Given the description of an element on the screen output the (x, y) to click on. 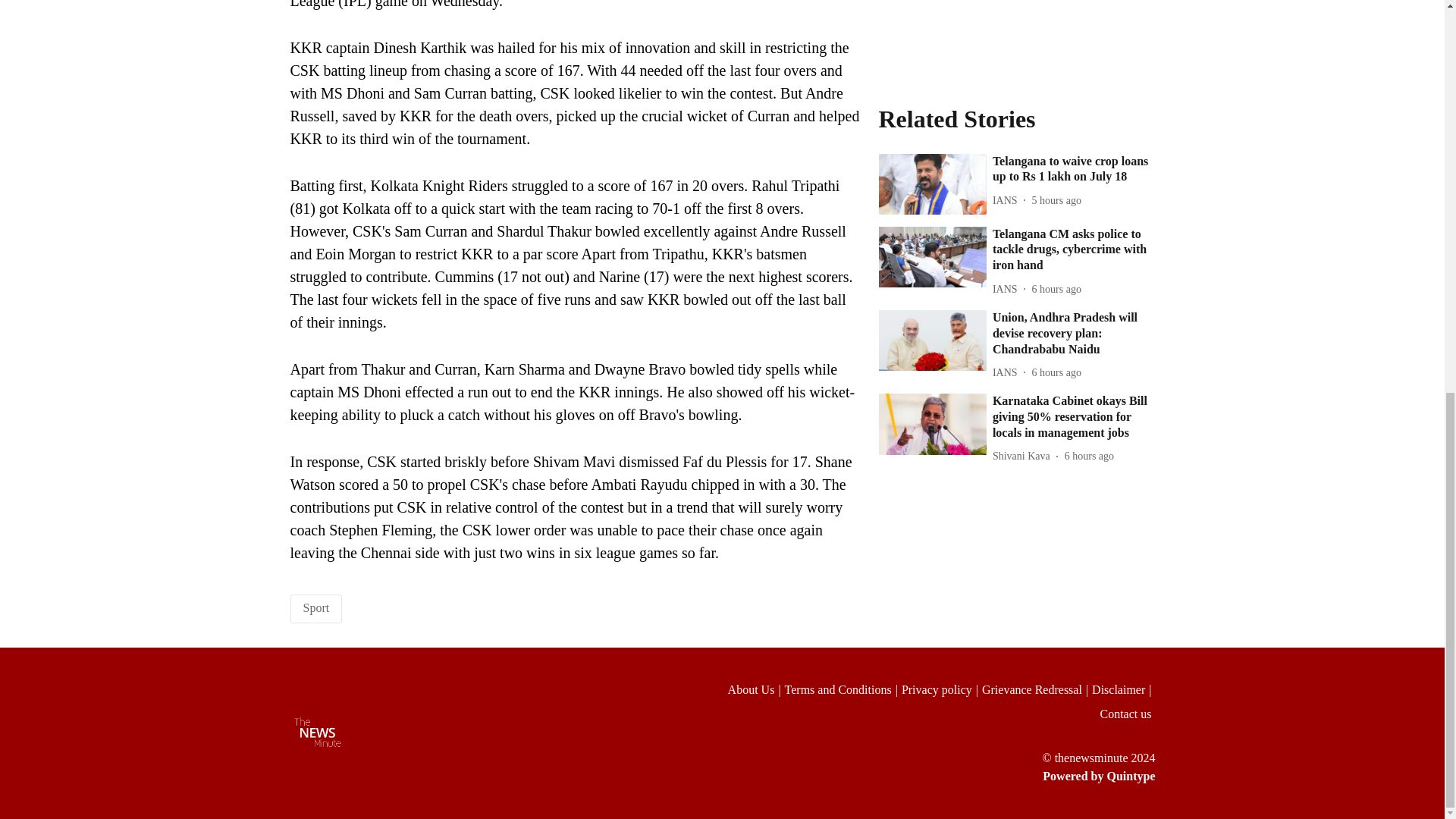
Privacy policy (941, 689)
About Us (756, 689)
Sport (316, 607)
Terms and Conditions (842, 689)
